Given the description of an element on the screen output the (x, y) to click on. 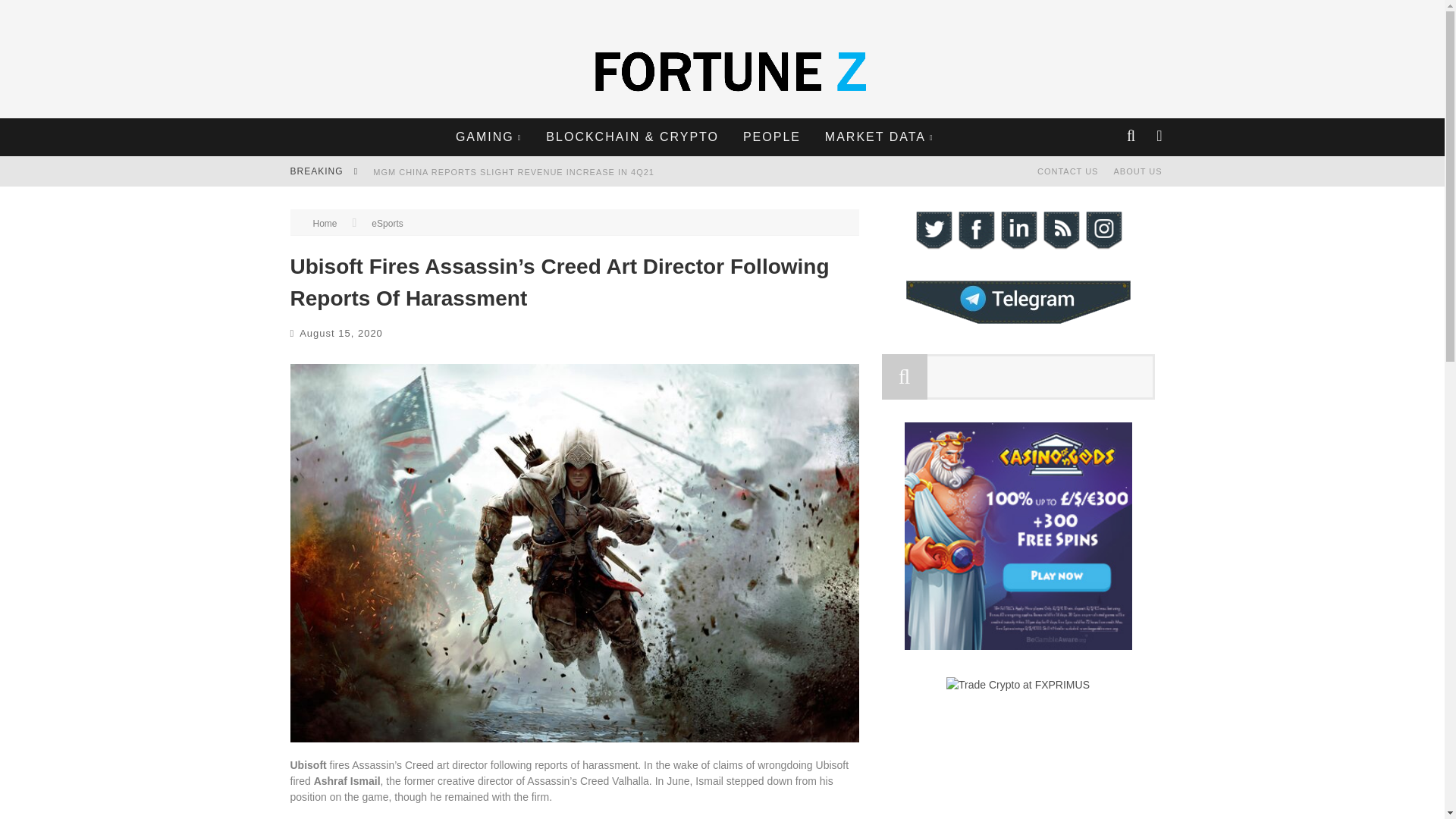
Visit Us On Linkedin (1017, 246)
Check Our Feed (1060, 246)
PEOPLE (772, 136)
View all posts in eSports (387, 223)
Log In (721, 463)
Visit Us On Facebook (974, 246)
Visit Us On Twitter (932, 246)
GAMING (489, 136)
Visit Us On Instagram (1102, 246)
MGM China Reports Slight Revenue Increase In 4Q21 (512, 171)
